Given the description of an element on the screen output the (x, y) to click on. 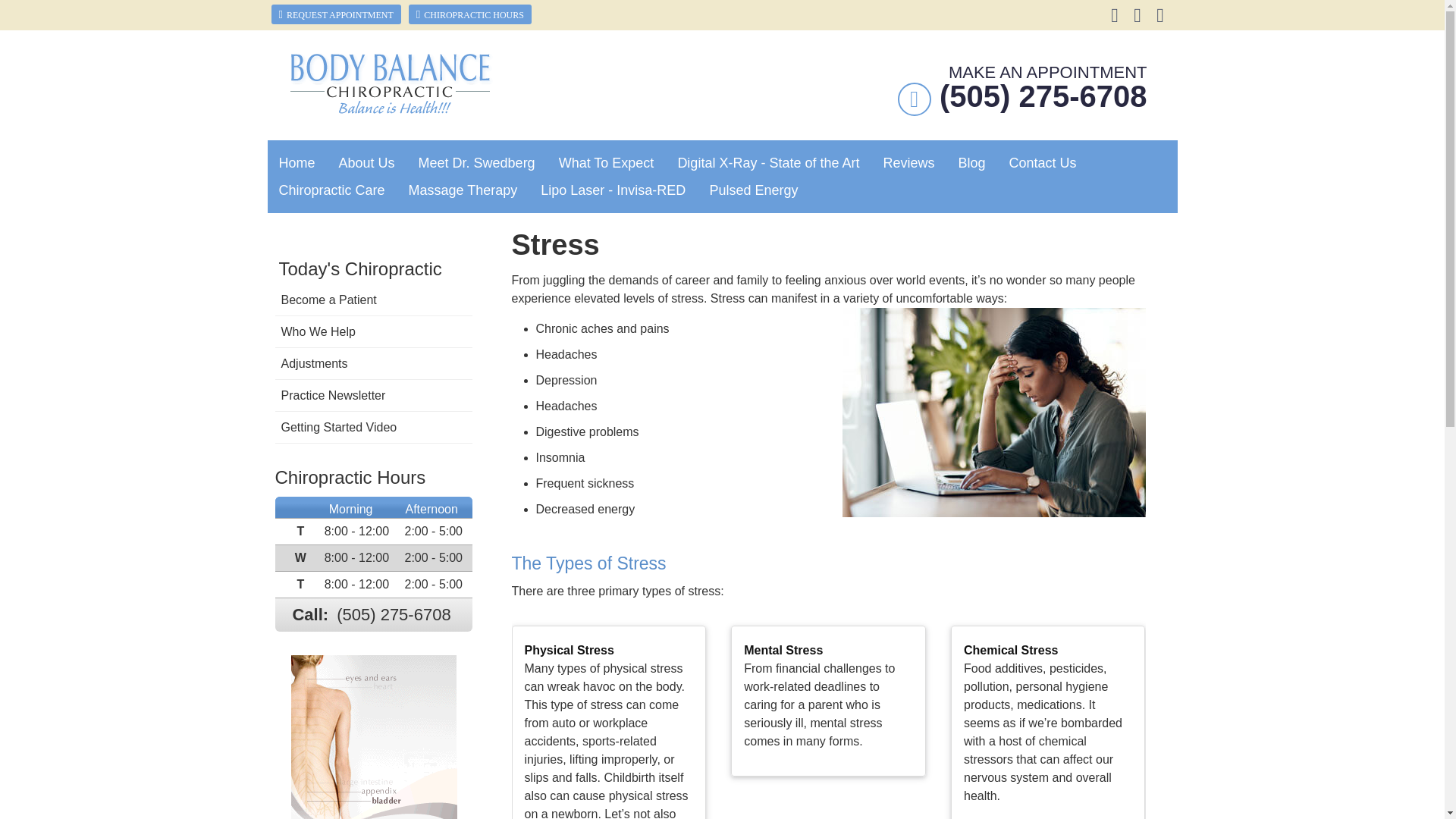
Massage Therapy (463, 189)
About Us (367, 162)
Contact Us (1043, 162)
Body Balance Chiropractic (391, 109)
Welcome to Body Balance Chiropractic (391, 109)
Home (296, 162)
What To Expect (606, 162)
Blog (972, 162)
Become a Patient (373, 300)
Digital X-Ray - State of the Art (767, 162)
Who We Help (373, 332)
Facebook Social Button (1115, 14)
Reviews (908, 162)
Lipo Laser - Invisa-RED (613, 189)
Chiropractic Care (331, 189)
